Given the description of an element on the screen output the (x, y) to click on. 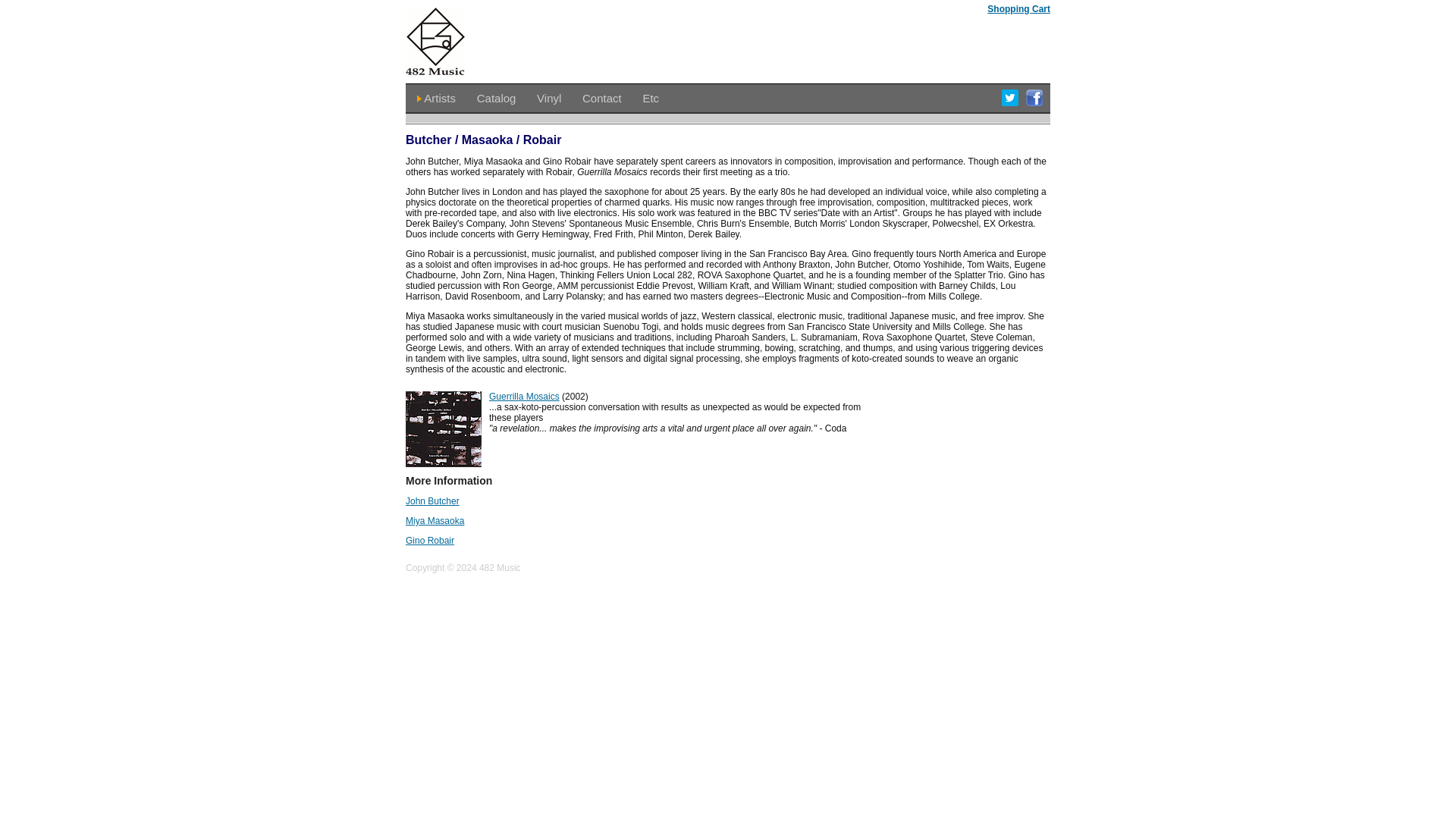
Vinyl (548, 97)
Miya Masaoka (435, 520)
Contact (601, 97)
Guerrilla Mosaics (524, 396)
Artists (439, 97)
Shopping Cart (1018, 9)
Catalog (496, 97)
John Butcher (433, 501)
Etc (650, 97)
Gino Robair (430, 540)
